Given the description of an element on the screen output the (x, y) to click on. 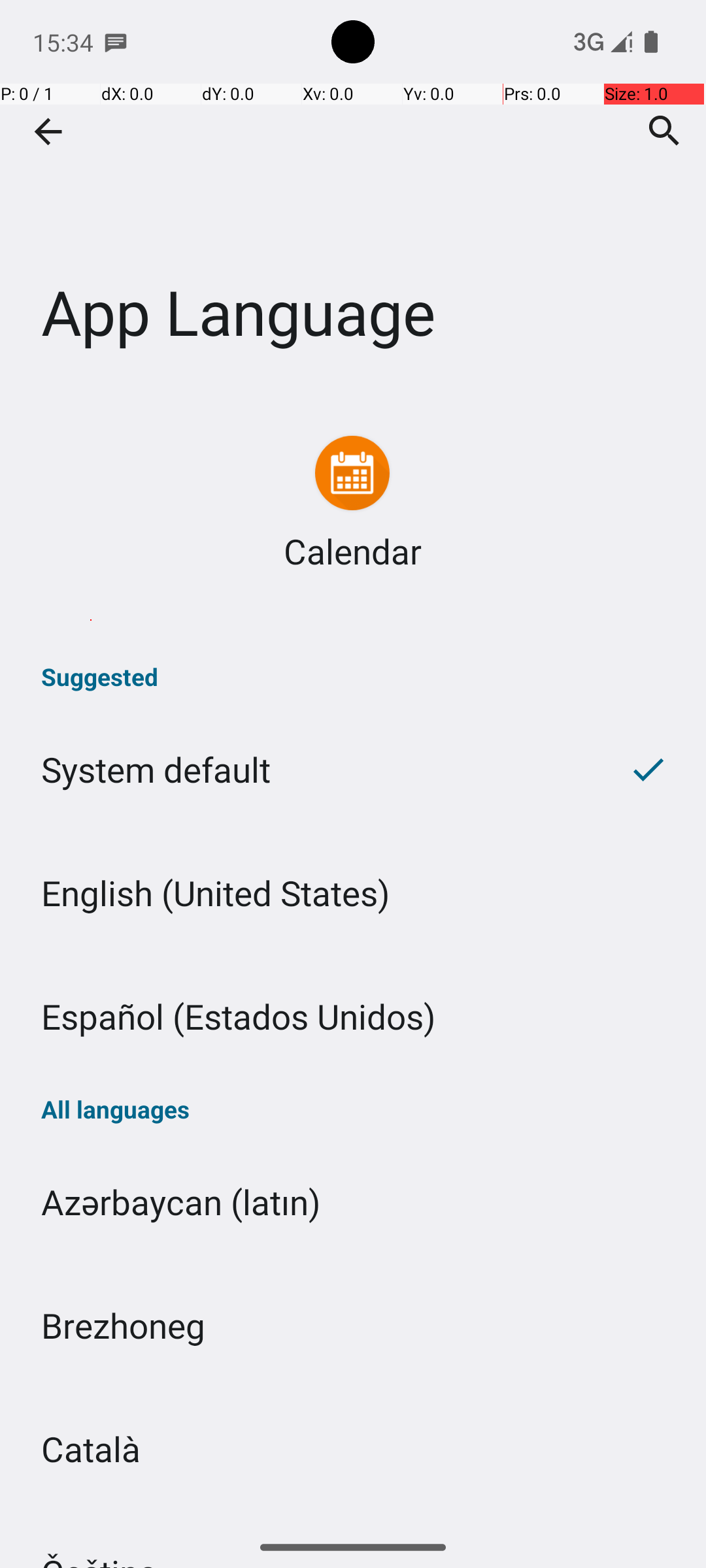
App Language Element type: android.widget.FrameLayout (353, 195)
Suggested Element type: android.widget.TextView (353, 676)
English (United States) Element type: android.widget.TextView (353, 892)
Español (Estados Unidos) Element type: android.widget.TextView (353, 1016)
All languages Element type: android.widget.TextView (353, 1109)
Azərbaycan (latın) Element type: android.widget.TextView (353, 1201)
Brezhoneg Element type: android.widget.TextView (353, 1325)
Català Element type: android.widget.TextView (353, 1448)
Čeština Element type: android.widget.TextView (353, 1518)
System default Element type: android.widget.TextView (295, 769)
